Given the description of an element on the screen output the (x, y) to click on. 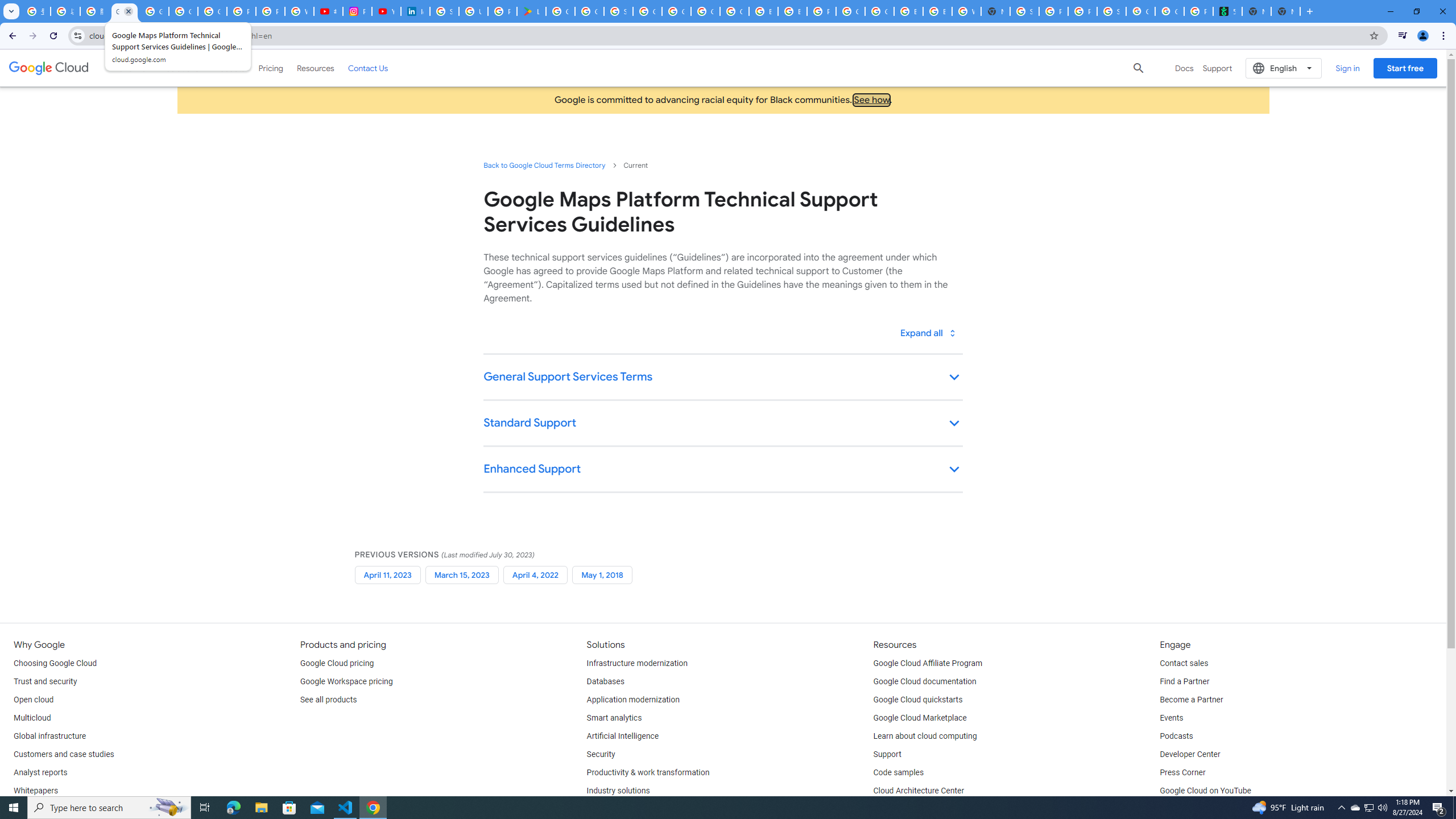
Google Workspace pricing (346, 682)
Toggle all (927, 332)
Google Cloud quickstarts (917, 700)
Trust and security (45, 682)
#nbabasketballhighlights - YouTube (327, 11)
March 15, 2023 (462, 574)
Browse Chrome as a guest - Computer - Google Chrome Help (908, 11)
